Given the description of an element on the screen output the (x, y) to click on. 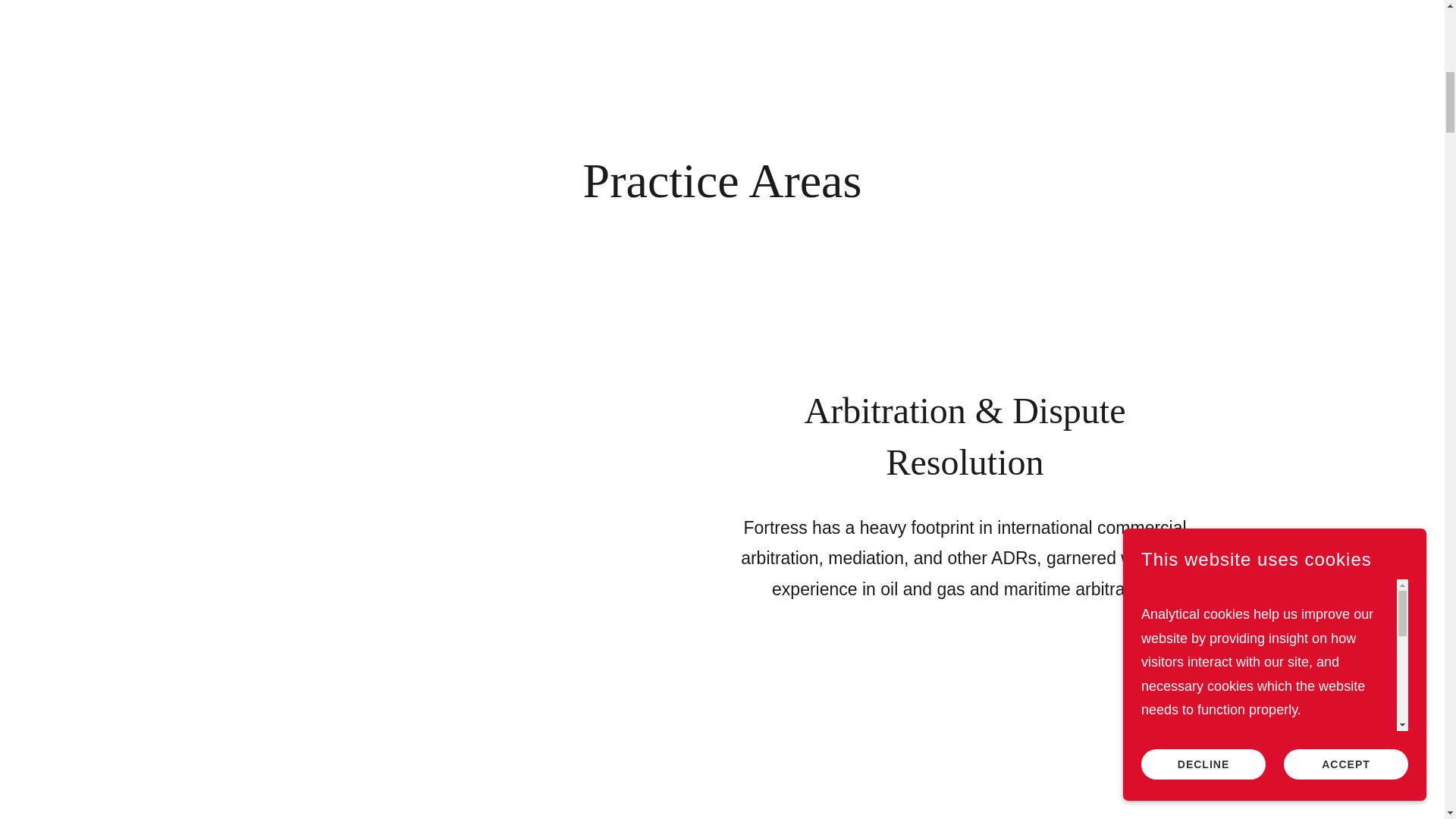
OUR COOKIE POLICY (1214, 153)
